Given the description of an element on the screen output the (x, y) to click on. 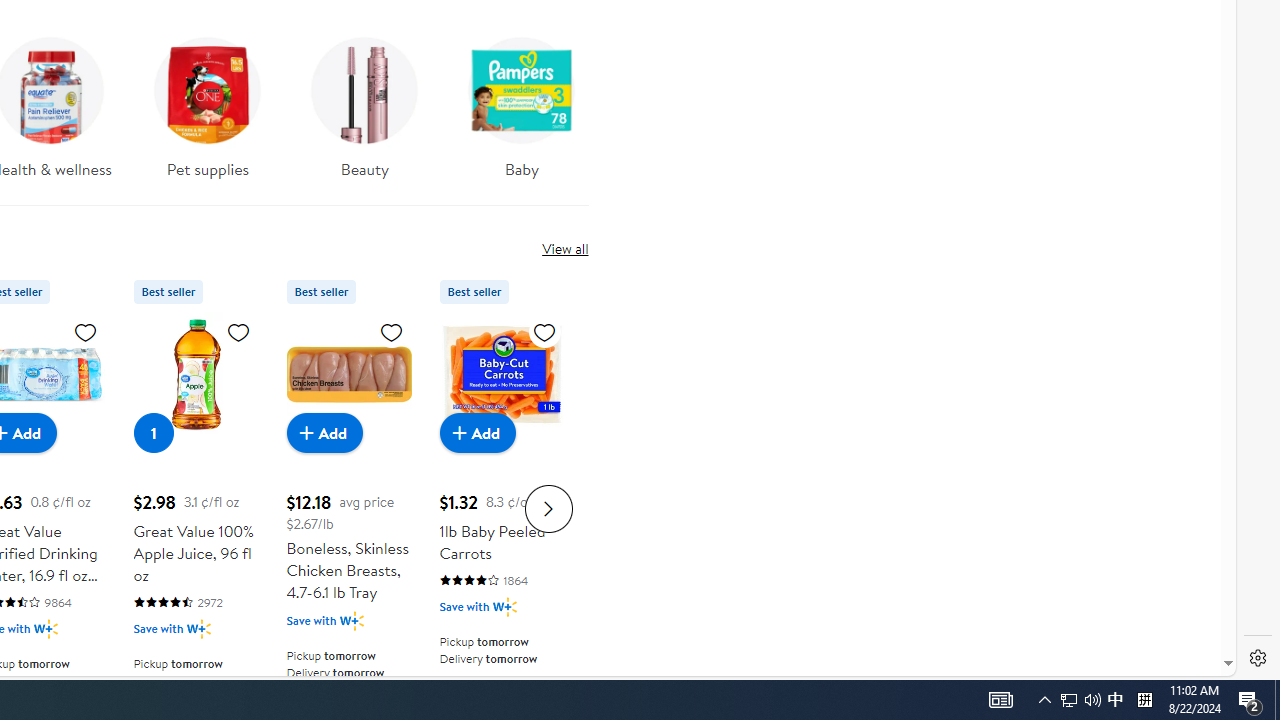
Baby (521, 101)
Walmart Plus (504, 606)
Pet supplies (207, 114)
Next slide for Product Carousel list (548, 507)
1lb Baby Peeled Carrots (501, 374)
Add to cart - 1lb Baby Peeled Carrots (478, 431)
Baby (521, 114)
1 in cart, Great Value 100% Apple Juice, 96 fl oz (153, 431)
Sign in to add to Favorites list, 1lb Baby Peeled Carrots (543, 331)
Beauty (365, 101)
Beauty (364, 114)
View all (564, 248)
Great Value 100% Apple Juice, 96 fl oz (195, 374)
